Given the description of an element on the screen output the (x, y) to click on. 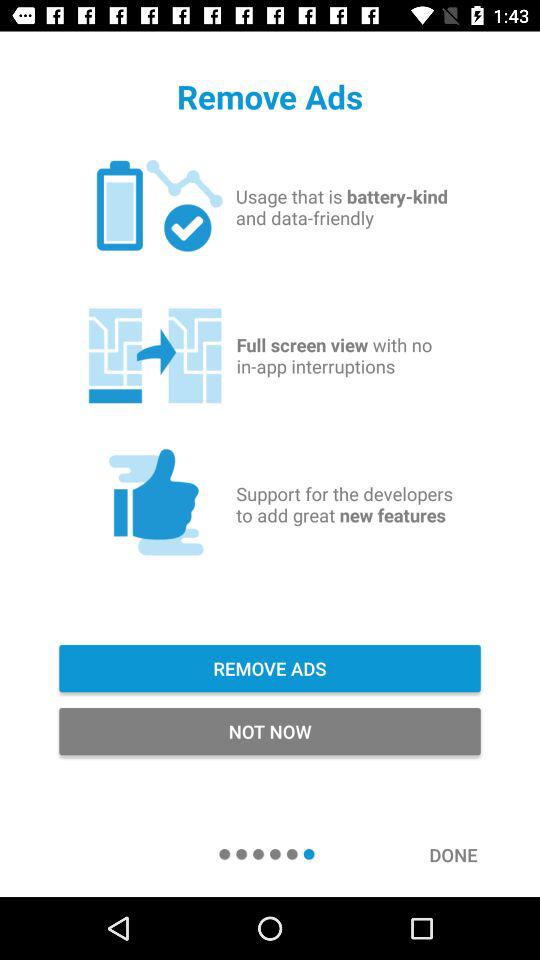
tap item below the not now button (463, 854)
